Given the description of an element on the screen output the (x, y) to click on. 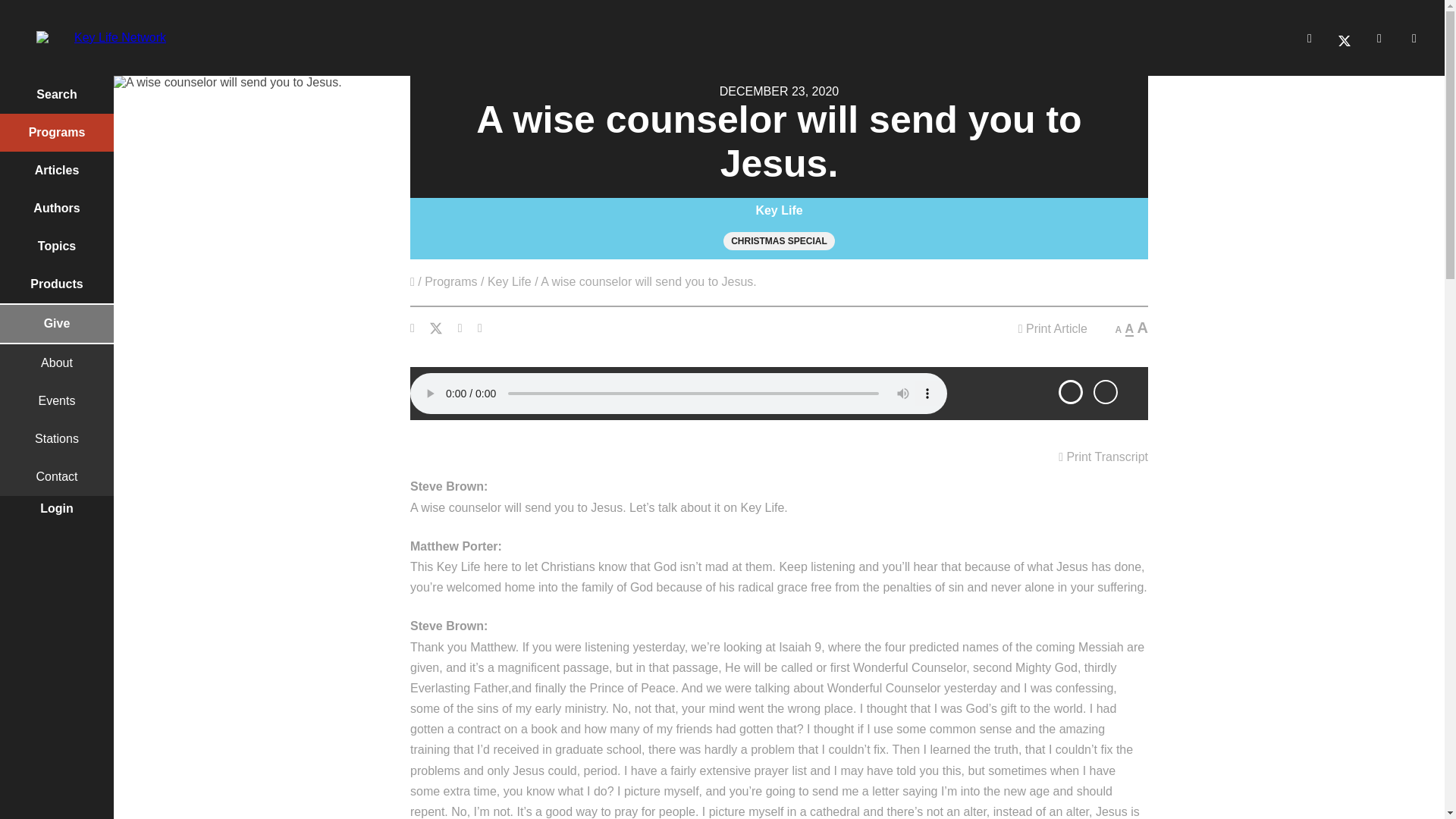
Key Life (779, 210)
CHRISTMAS SPECIAL (778, 240)
Search (56, 94)
Articles (56, 170)
Give (56, 323)
About (56, 362)
subscribe to podcast (1105, 392)
Print Article (1052, 328)
Programs (451, 282)
Topics (56, 246)
